Given the description of an element on the screen output the (x, y) to click on. 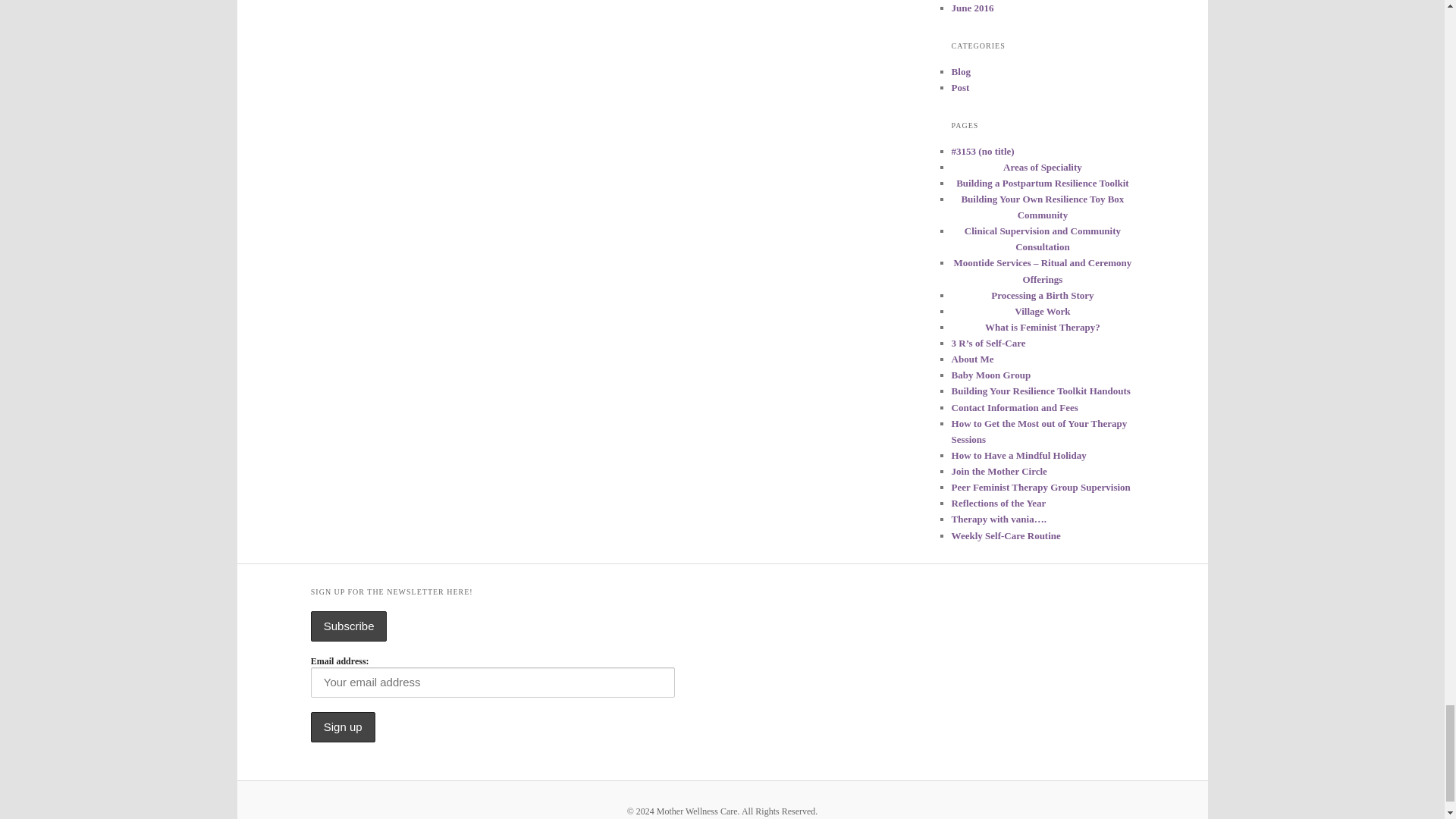
Subscribe (349, 625)
Sign up (343, 726)
